Given the description of an element on the screen output the (x, y) to click on. 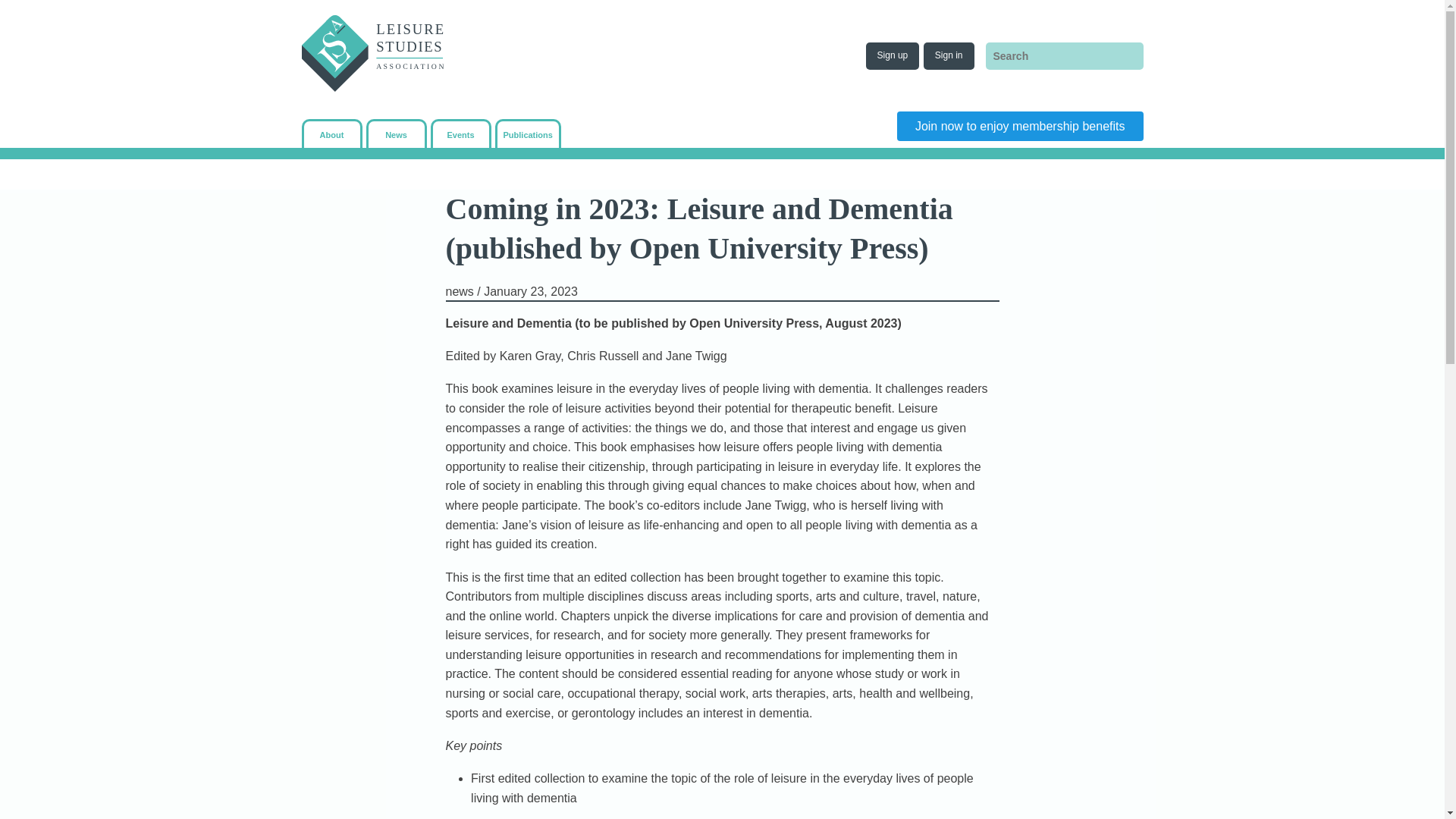
Sign in (948, 55)
News (396, 134)
About (331, 134)
Events (460, 134)
Publications (528, 134)
Join now to enjoy membership benefits (1019, 125)
Join now to enjoy membership benefits (1019, 125)
Sign up (893, 55)
